Given the description of an element on the screen output the (x, y) to click on. 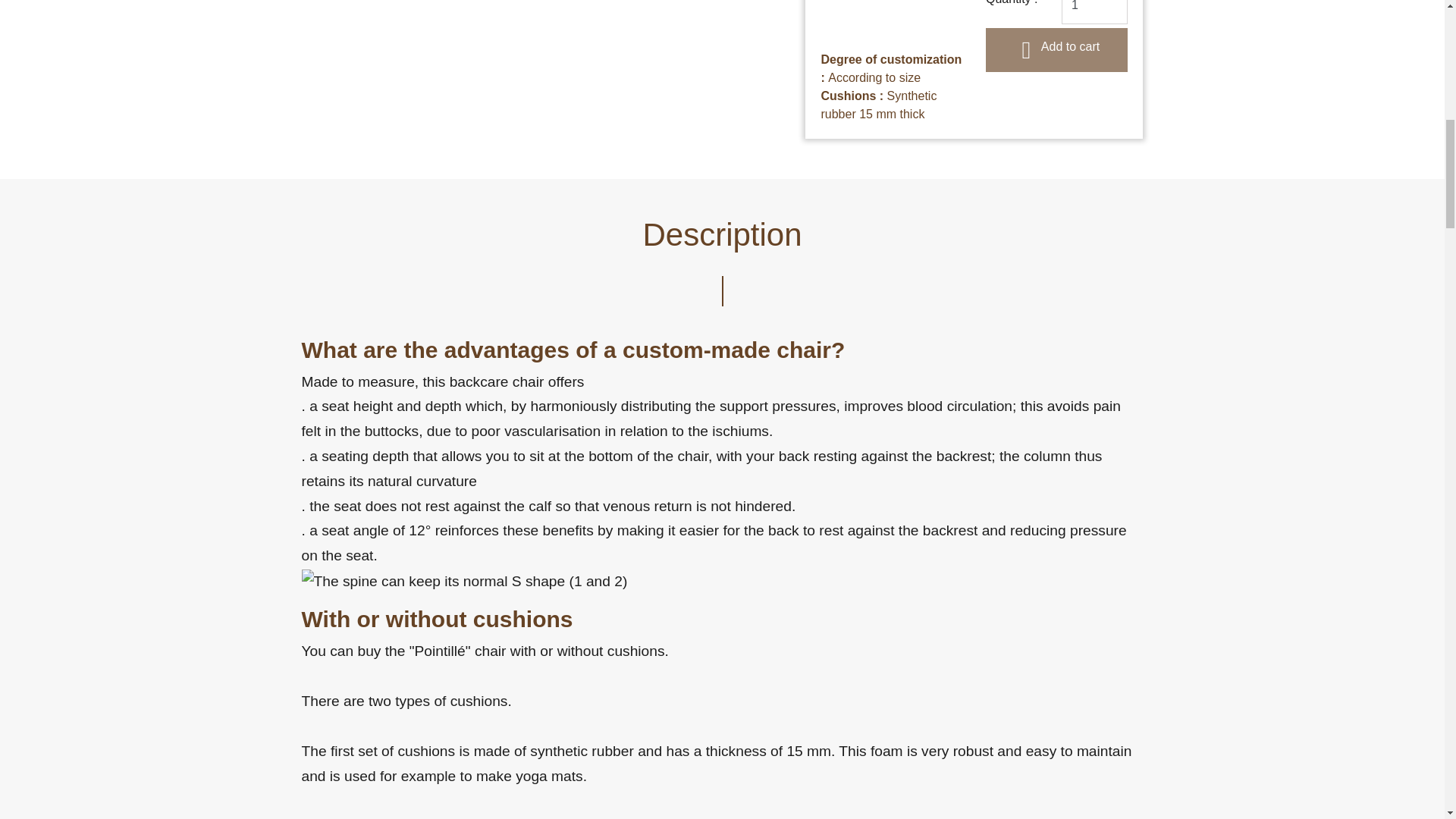
Cushions : Synthetic rubber 15 mm thick (878, 104)
1 (1094, 12)
Degree of customization : According to size (890, 68)
